Given the description of an element on the screen output the (x, y) to click on. 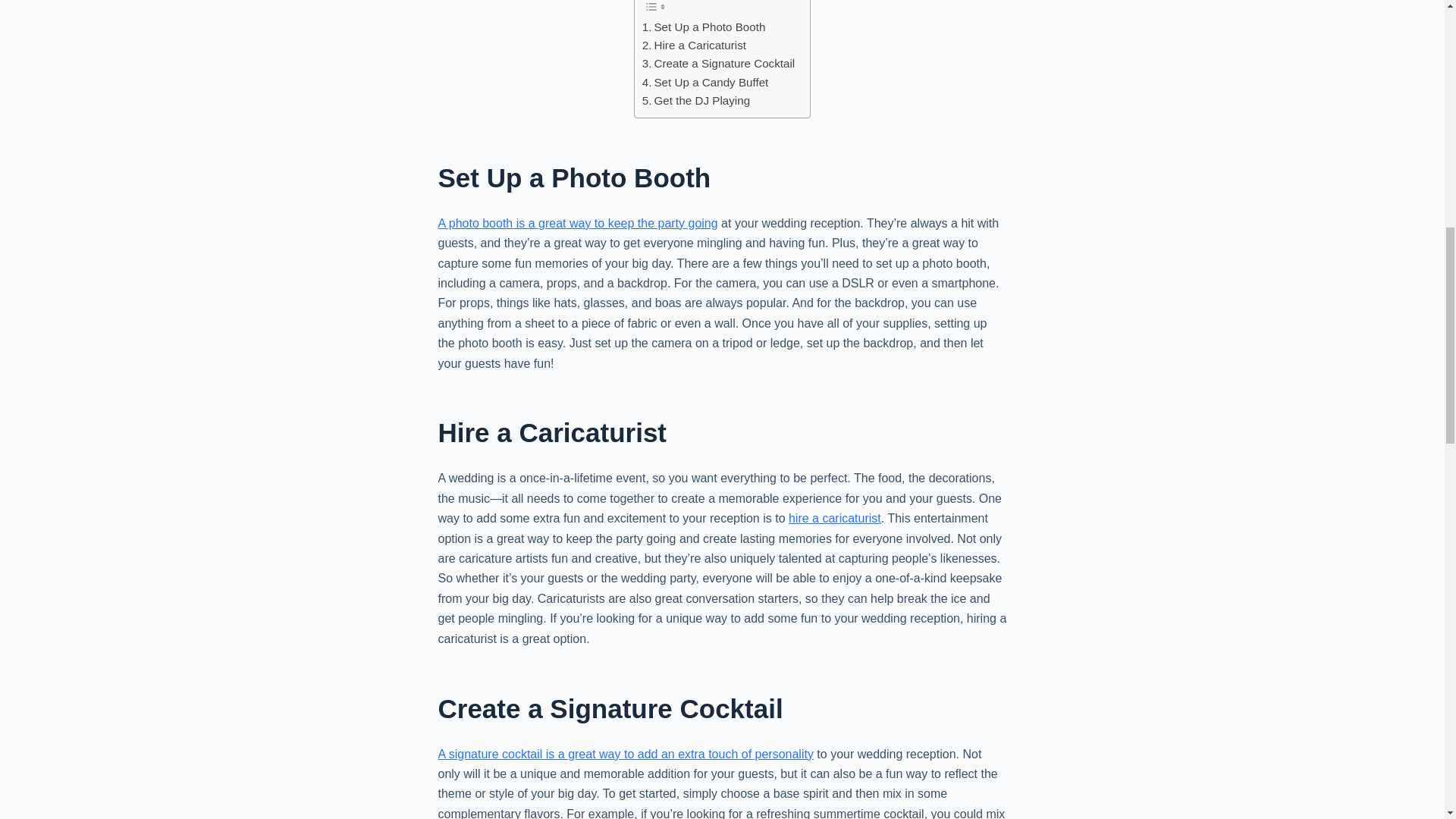
A photo booth is a great way to keep the party going (577, 223)
Create a Signature Cocktail (718, 63)
Hire a Caricaturist (693, 45)
Set Up a Photo Booth (703, 27)
Hire a Caricaturist (693, 45)
Set Up a Candy Buffet (705, 82)
Get the DJ Playing (695, 100)
hire a caricaturist (834, 517)
Get the DJ Playing (695, 100)
